Given the description of an element on the screen output the (x, y) to click on. 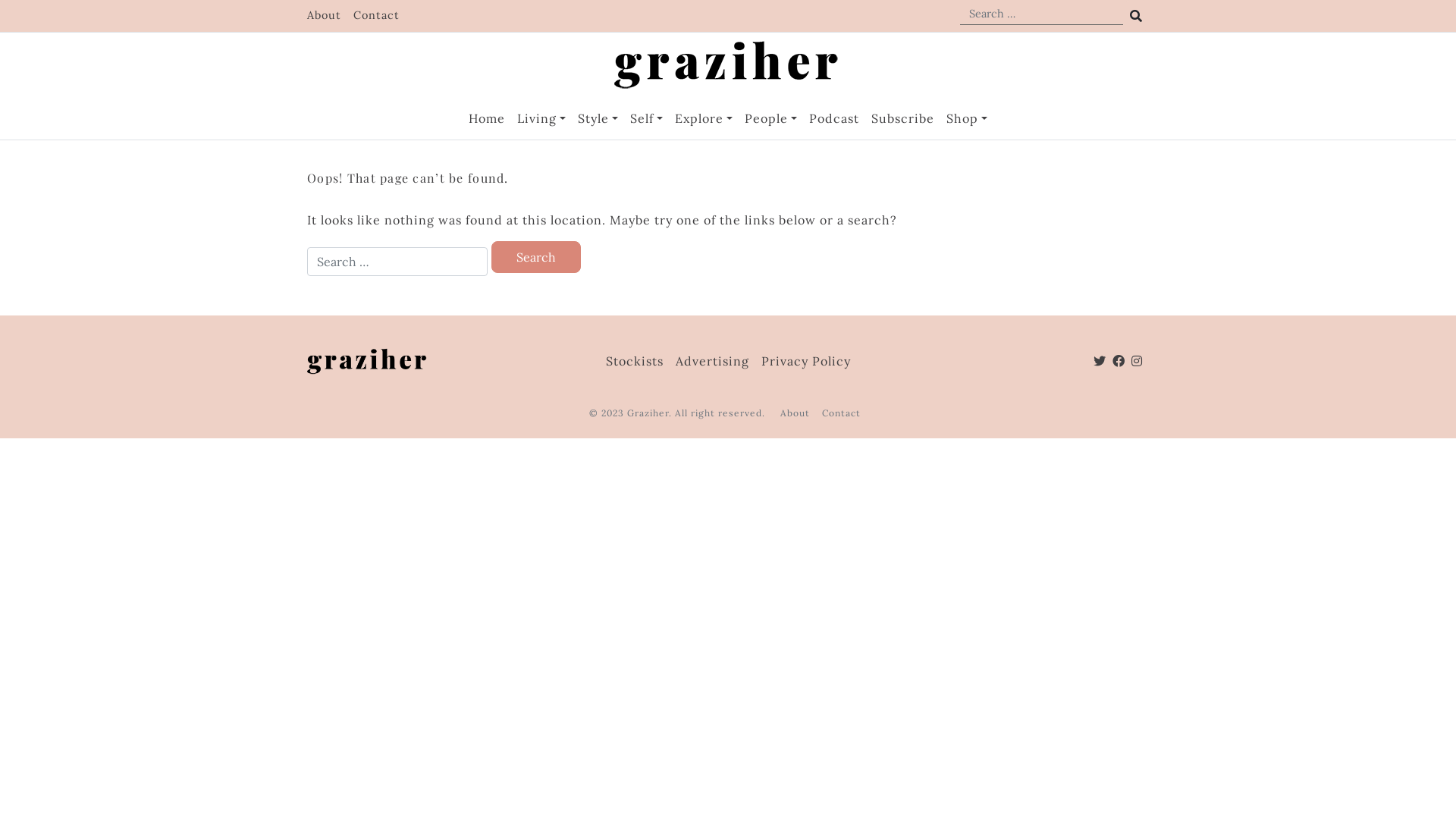
Skip to content Element type: text (0, 0)
About Element type: text (794, 412)
Contact Element type: text (376, 14)
Shop Element type: text (966, 118)
Search Element type: text (535, 257)
Home Element type: text (486, 118)
Self Element type: text (646, 118)
Podcast Element type: text (834, 118)
Contact Element type: text (841, 412)
Advertising Element type: text (711, 360)
Style Element type: text (597, 118)
Explore Element type: text (703, 118)
Living Element type: text (541, 118)
Stockists Element type: text (633, 360)
Search for: Element type: hover (397, 261)
People Element type: text (770, 118)
Privacy Policy Element type: text (805, 360)
Subscribe Element type: text (902, 118)
About Element type: text (324, 14)
